Given the description of an element on the screen output the (x, y) to click on. 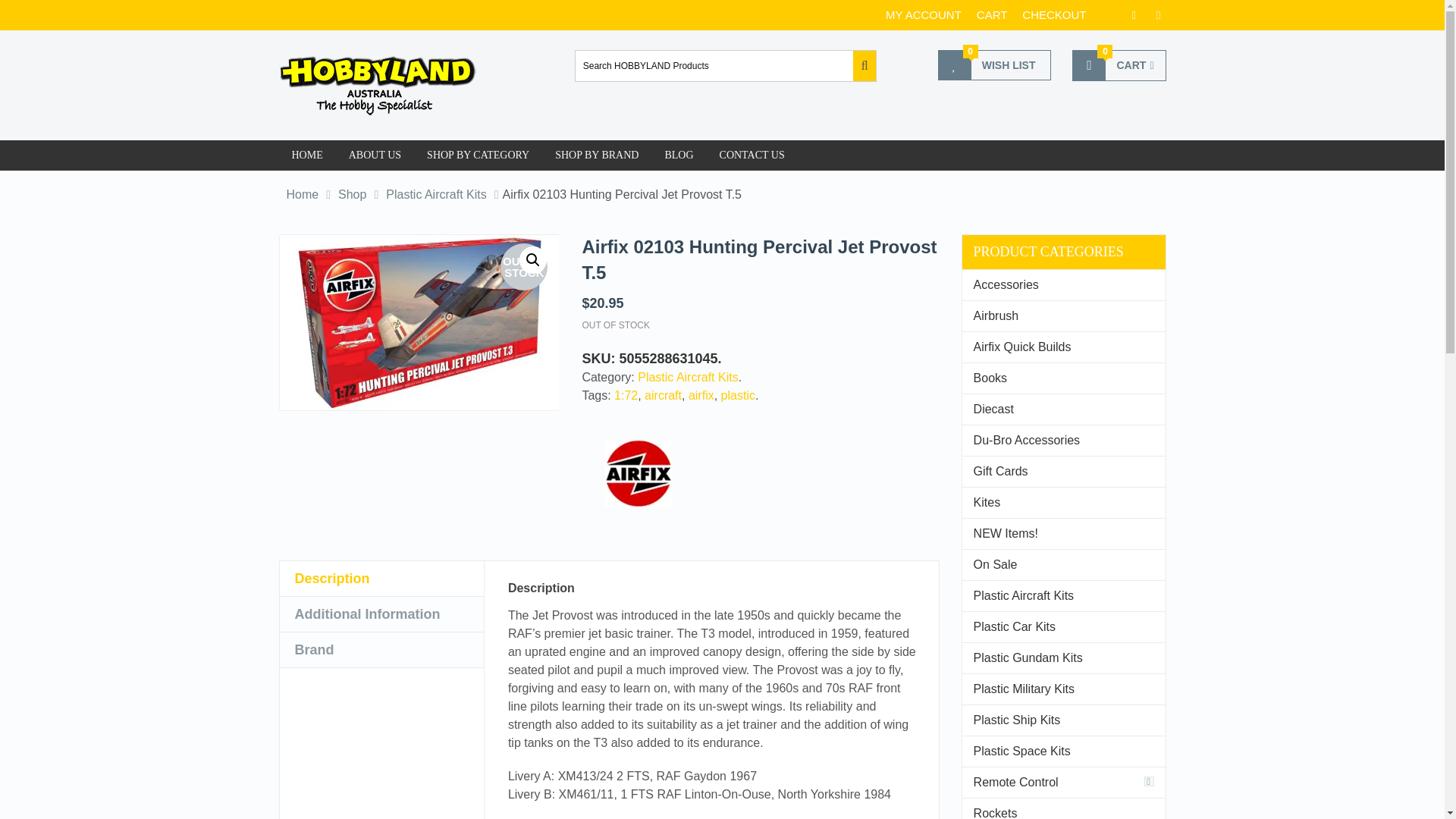
ABOUT US (374, 155)
HOME (307, 155)
CHECKOUT (1118, 65)
MY ACCOUNT (1054, 15)
SHOP BY CATEGORY (922, 15)
Search HOBBYLAND Products (477, 155)
Search HOBBYLAND Products (714, 65)
CART (994, 64)
